Given the description of an element on the screen output the (x, y) to click on. 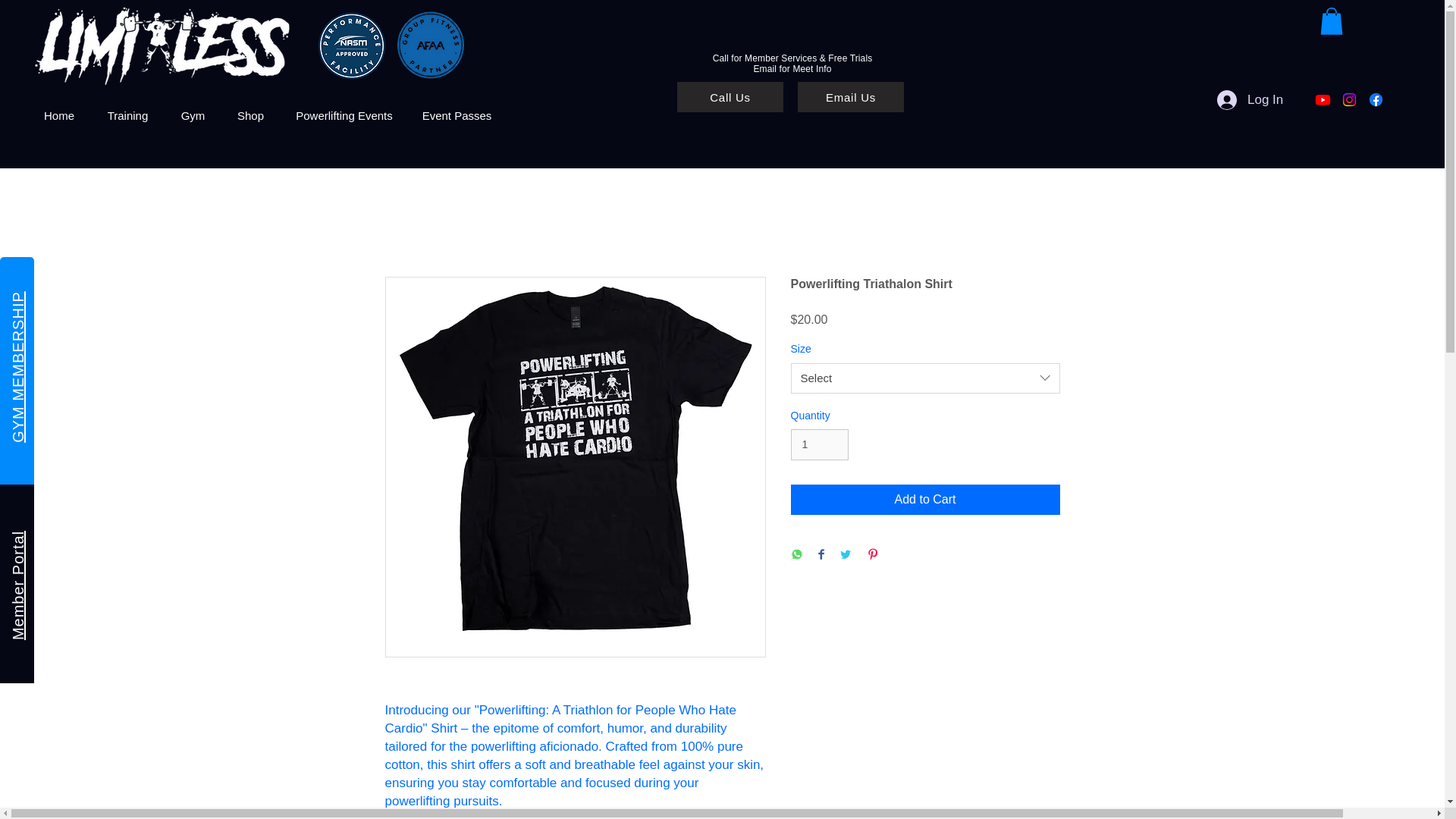
Member Portal (64, 538)
Powerlifting Events (344, 116)
Email Us (850, 96)
Event Passes (457, 116)
Call Us (730, 96)
Gym (192, 116)
Shop (250, 116)
GYM MEMBERSHIP (85, 299)
Select (924, 378)
Log In (1250, 99)
Training (127, 116)
Add to Cart (924, 499)
1 (818, 444)
Home (58, 116)
